Given the description of an element on the screen output the (x, y) to click on. 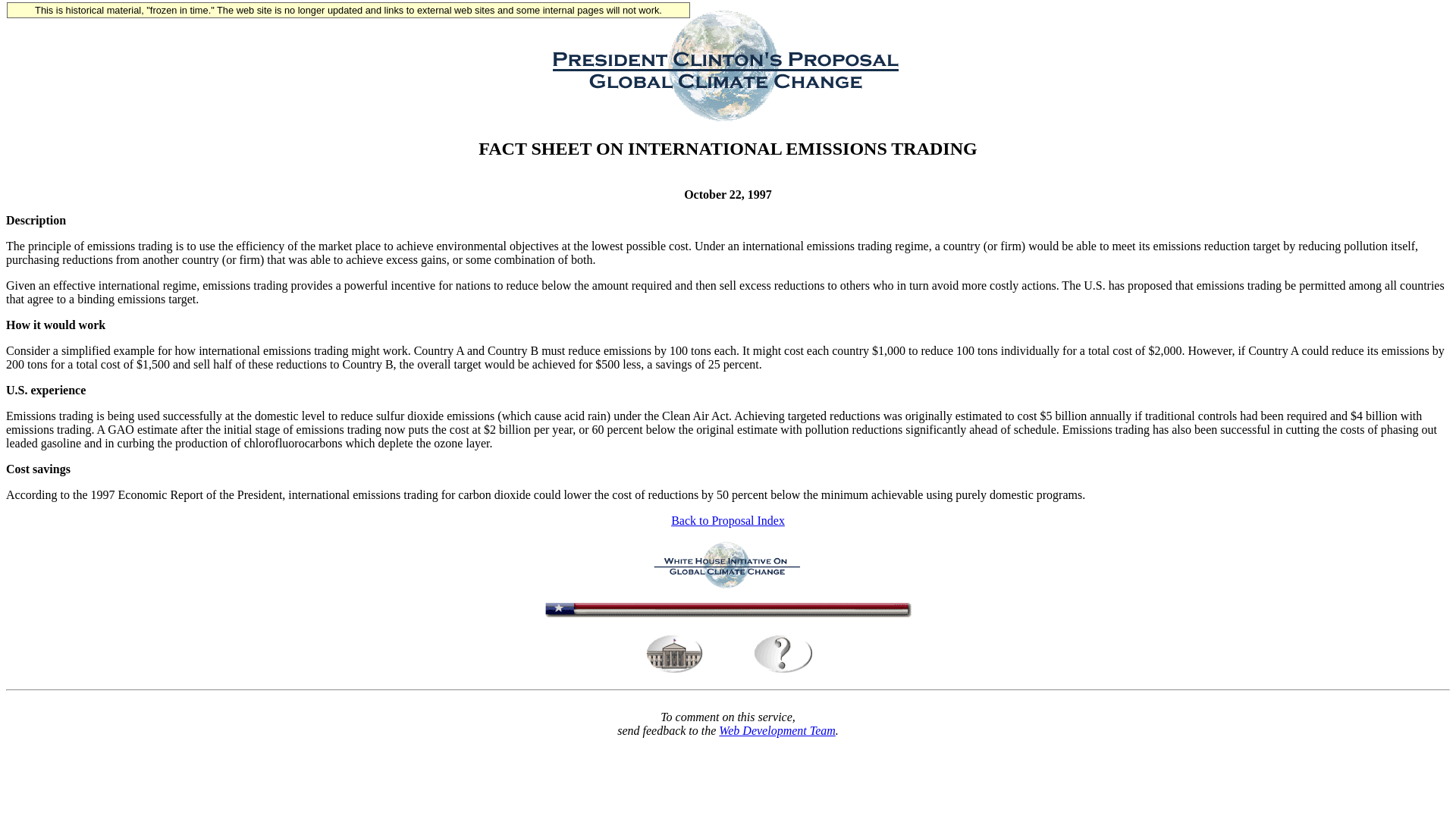
Web Development Team (776, 730)
Back to Proposal Index (727, 520)
